Given the description of an element on the screen output the (x, y) to click on. 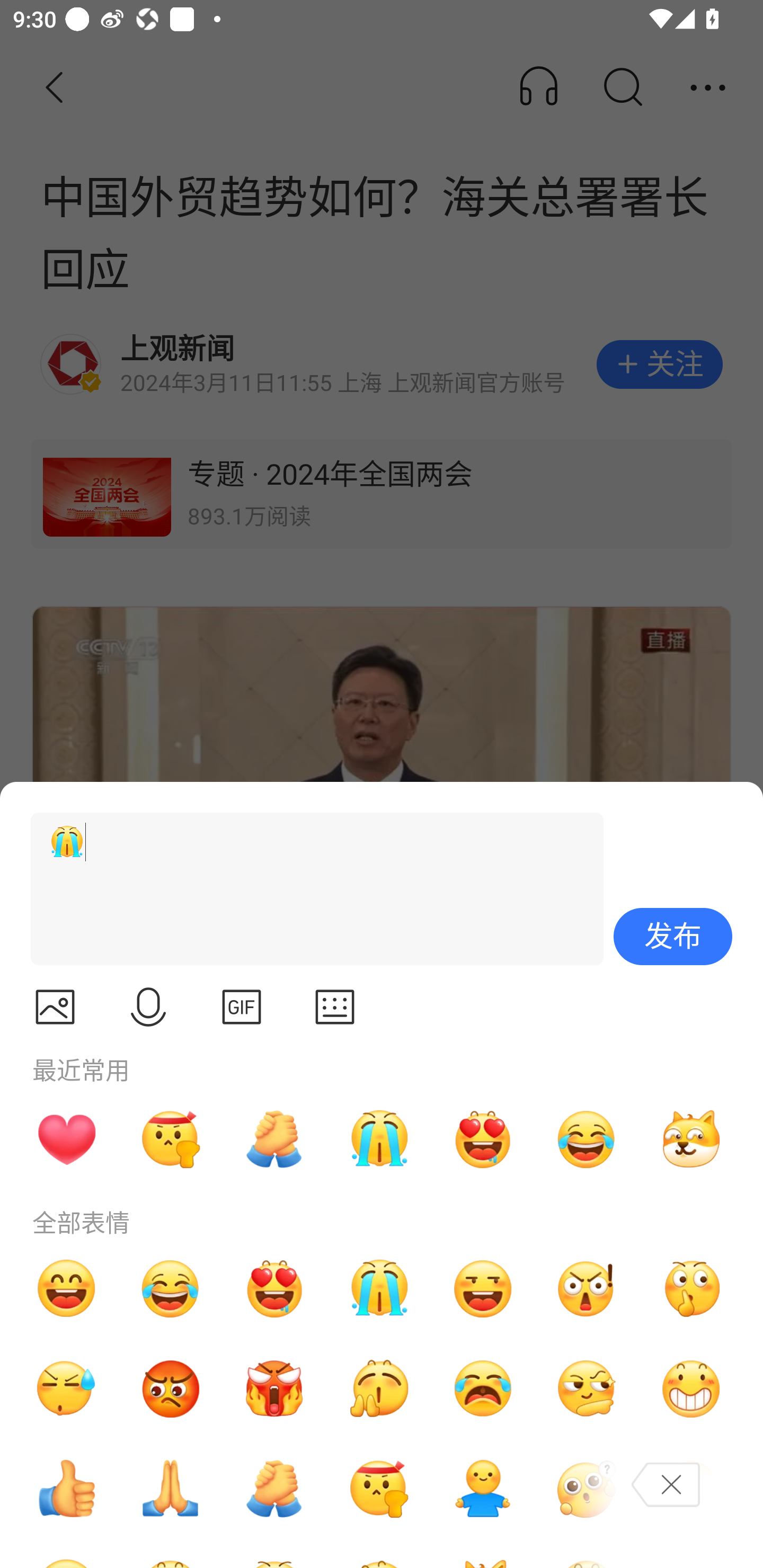
[哭] (308, 888)
发布 (672, 936)
 (54, 1007)
 (148, 1007)
 (241, 1007)
 (334, 1007)
心 (66, 1138)
奋斗 (170, 1138)
加油 (274, 1138)
哭 (378, 1138)
喜欢 (482, 1138)
哭笑 (586, 1138)
奸笑 (690, 1138)
哈哈 (66, 1288)
哭笑 (170, 1288)
喜欢 (274, 1288)
哭 (378, 1288)
嘿嘿 (482, 1288)
吃惊 (586, 1288)
嘘 (690, 1288)
汗 (66, 1389)
生气 (170, 1389)
愤怒 (274, 1389)
喝彩 (378, 1389)
抓狂 (482, 1389)
机智 (586, 1389)
坏笑 (690, 1389)
点赞 (66, 1488)
缅怀 (170, 1488)
加油 (274, 1488)
奋斗 (378, 1488)
抱抱 (482, 1488)
疑问 (586, 1488)
捂脸 (690, 1488)
